Given the description of an element on the screen output the (x, y) to click on. 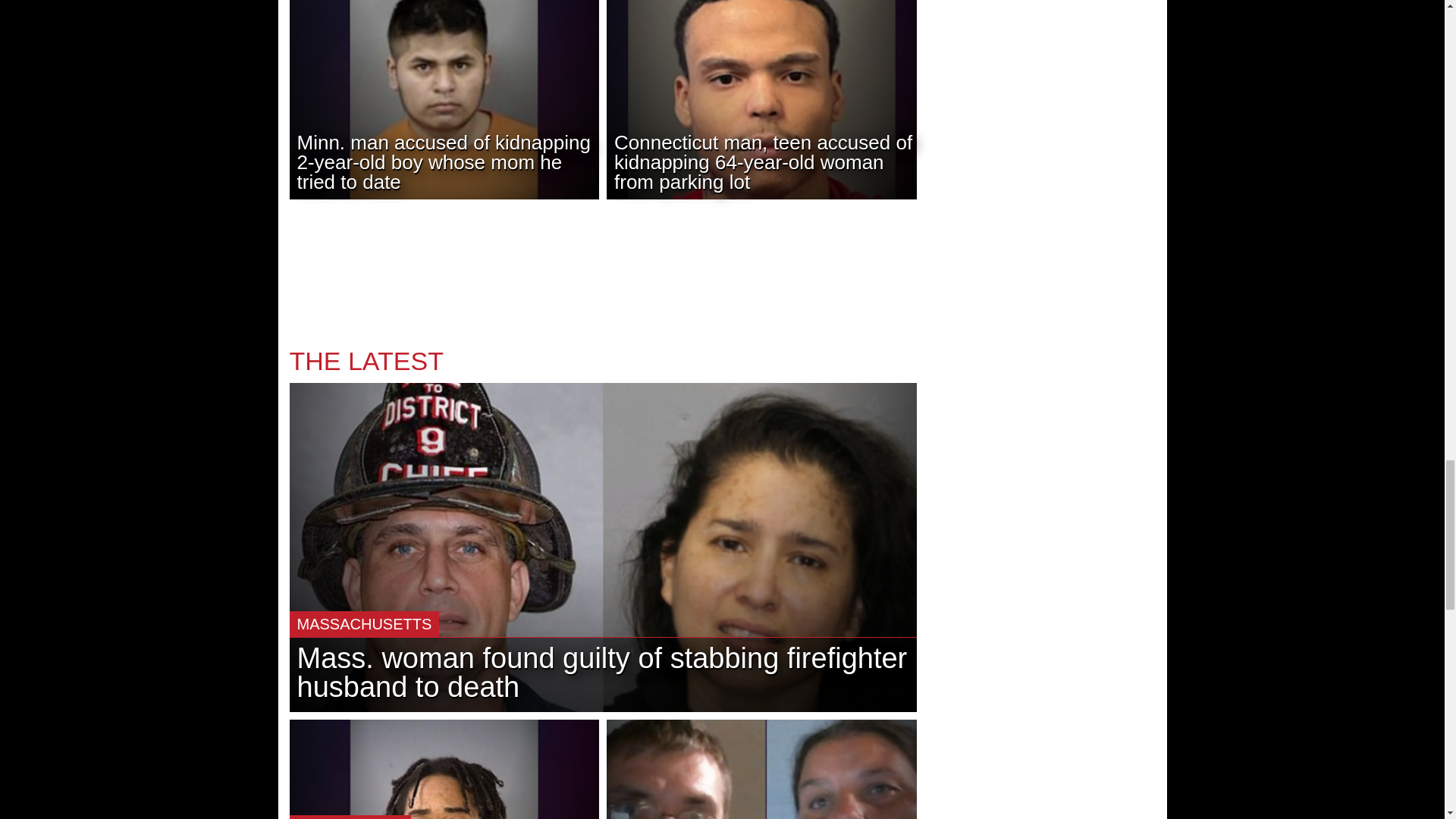
3rd party ad content (602, 277)
